Given the description of an element on the screen output the (x, y) to click on. 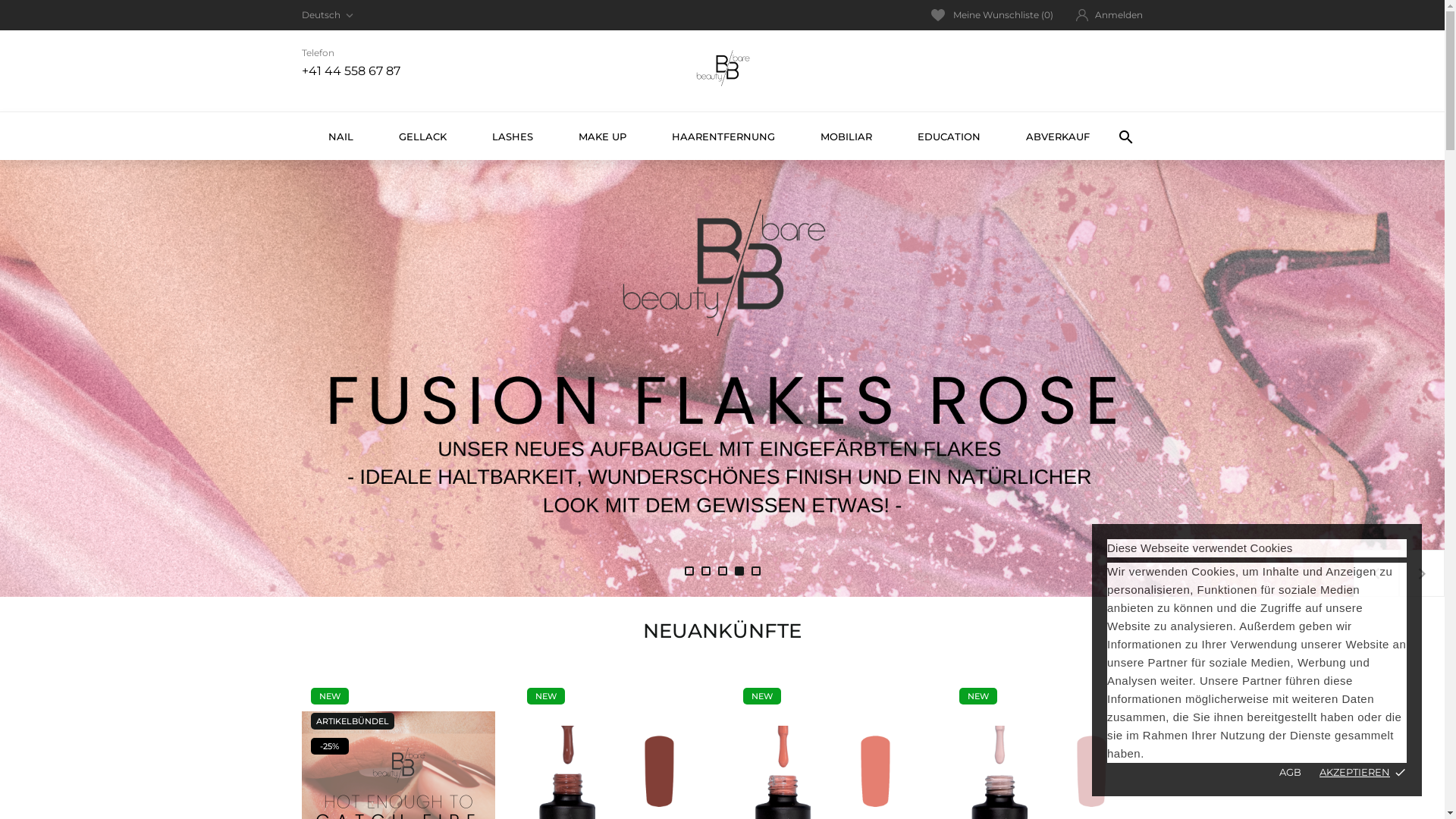
HAARENTFERNUNG Element type: text (723, 136)
NAIL Element type: text (339, 136)
GELLACK Element type: text (422, 136)
MOBILIAR Element type: text (845, 136)
AGB Element type: text (1290, 771)
LASHES Element type: text (511, 136)
ABVERKAUF Element type: text (1056, 136)
Meine Wunschliste (
0
) Element type: text (992, 15)
MAKE UP Element type: text (601, 136)
Anmelden Element type: text (1109, 15)
EDUCATION Element type: text (948, 136)
